Given the description of an element on the screen output the (x, y) to click on. 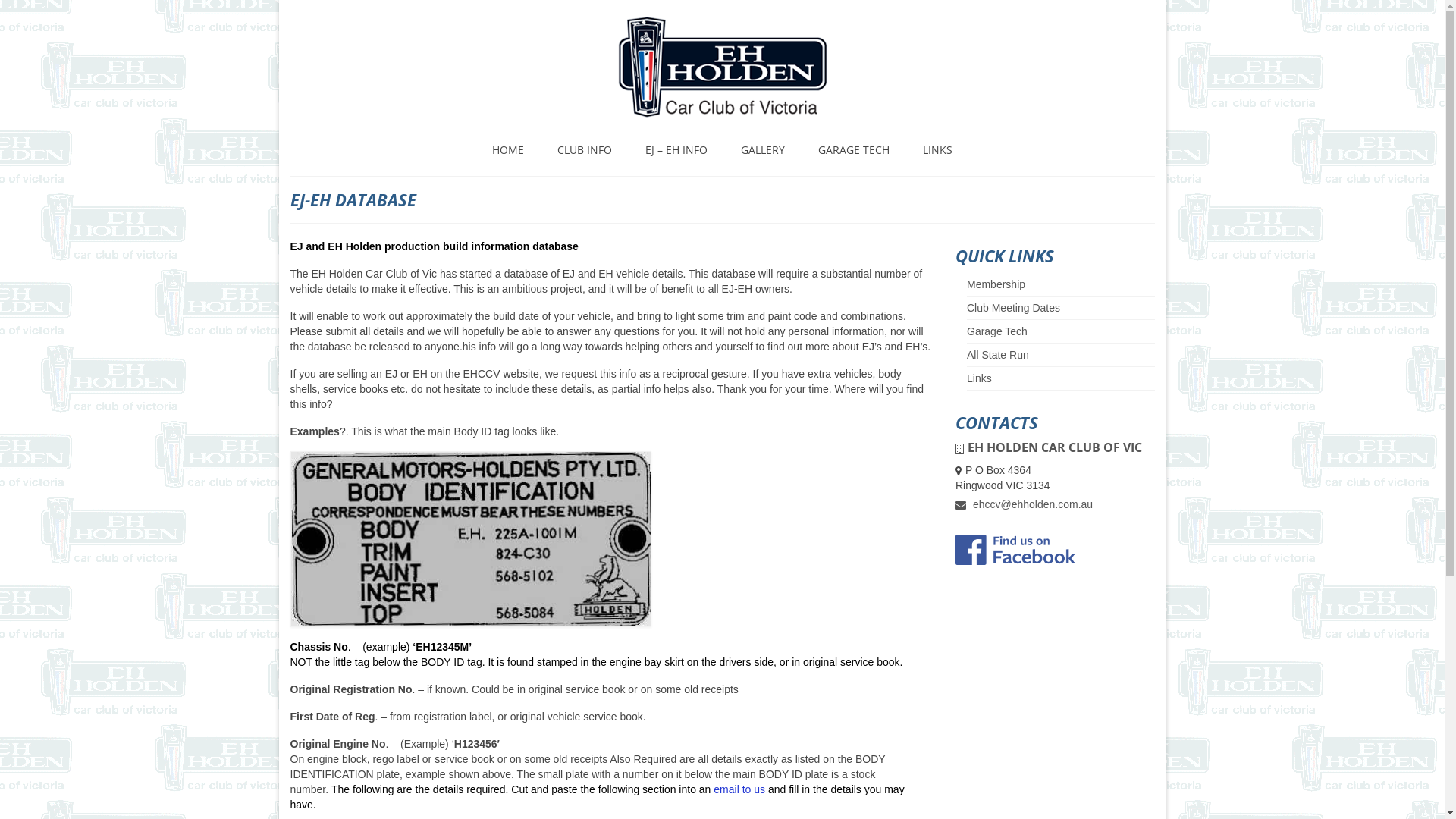
Membership Element type: text (995, 284)
LINKS Element type: text (937, 149)
All State Run Element type: text (997, 354)
Club Meeting Dates Element type: text (1013, 307)
email to us Element type: text (739, 789)
ehccv@ehholden.com.au Element type: text (1023, 504)
CLUB INFO Element type: text (584, 149)
Links Element type: text (978, 378)
Garage Tech Element type: text (996, 331)
GALLERY Element type: text (762, 149)
GARAGE TECH Element type: text (853, 149)
HOME Element type: text (507, 149)
